Given the description of an element on the screen output the (x, y) to click on. 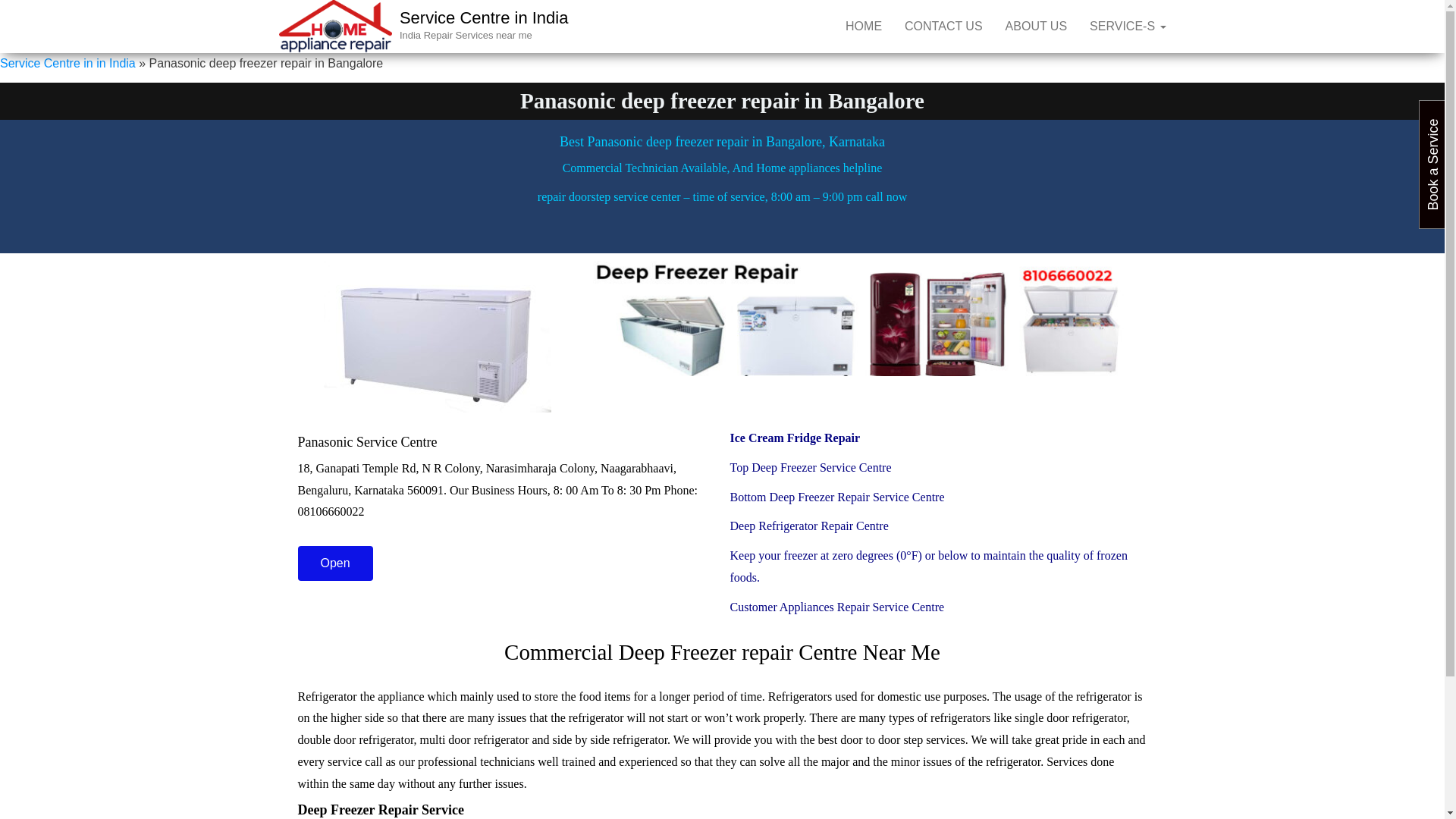
Contact Us (943, 26)
HOME (863, 26)
ABOUT US (1036, 26)
About Us (1036, 26)
SERVICE-S (1127, 26)
CONTACT US (943, 26)
Service Centre in India (483, 17)
Home (863, 26)
Service-s (1127, 26)
